Given the description of an element on the screen output the (x, y) to click on. 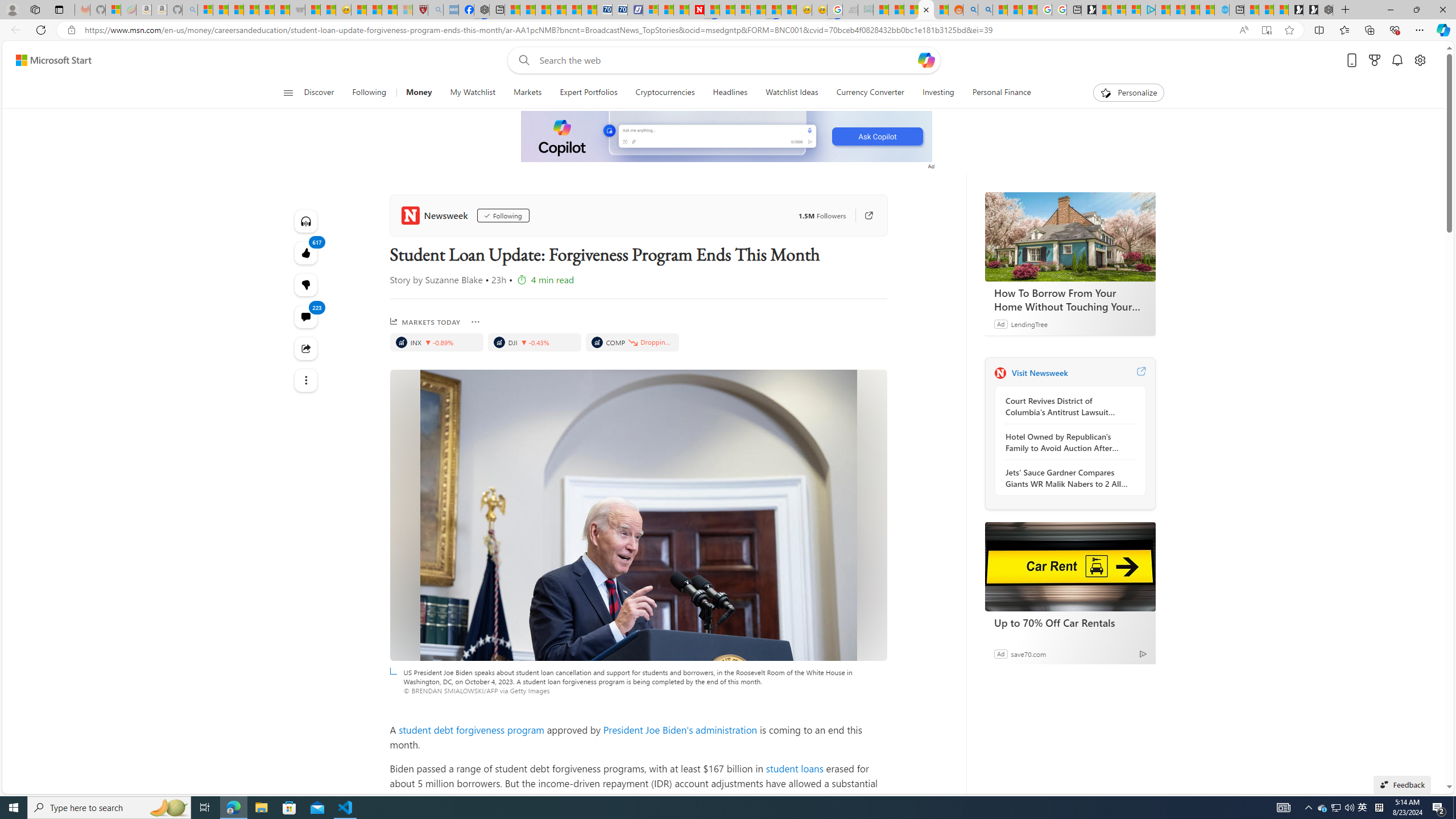
Investing (937, 92)
Newsweek (1000, 372)
Up to 70% Off Car Rentals (1069, 622)
New Report Confirms 2023 Was Record Hot | Watch (266, 9)
My Watchlist (472, 92)
Newsweek (436, 215)
